Given the description of an element on the screen output the (x, y) to click on. 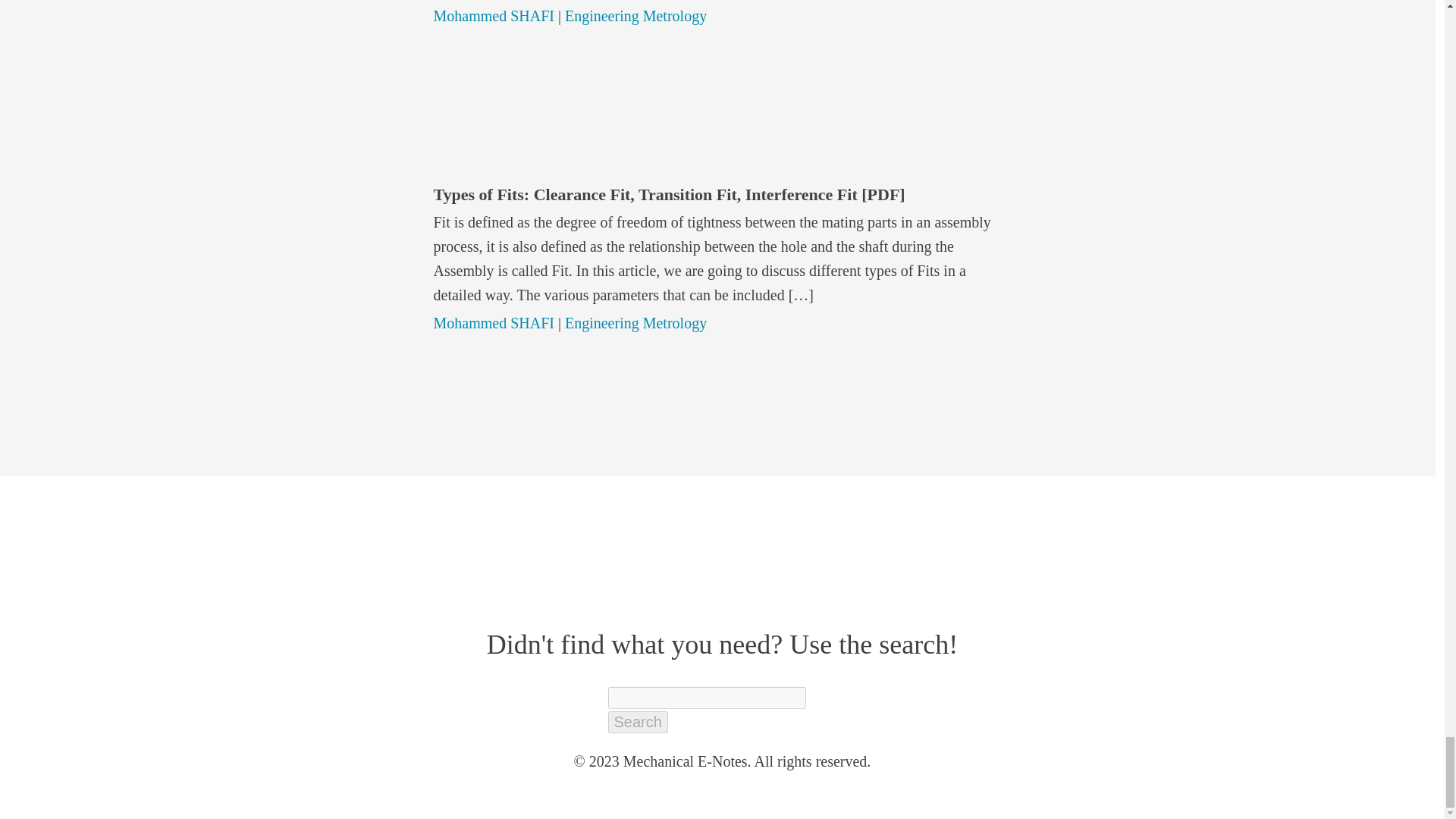
Mohammed SHAFI (493, 322)
Engineering Metrology (635, 15)
Mohammed SHAFI (493, 15)
Search (638, 722)
